Given the description of an element on the screen output the (x, y) to click on. 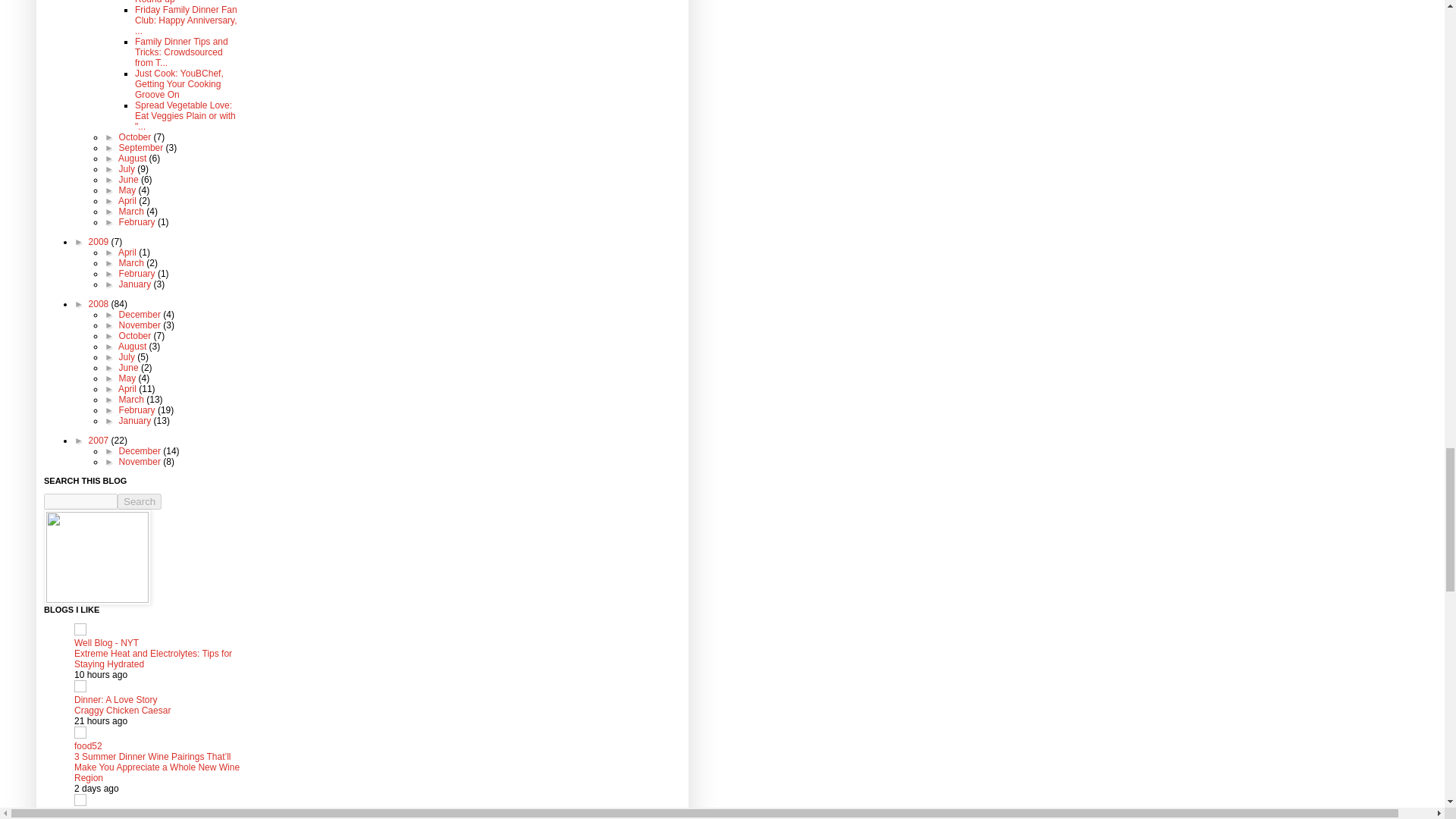
search (80, 501)
Search (139, 501)
Search (139, 501)
search (139, 501)
